Given the description of an element on the screen output the (x, y) to click on. 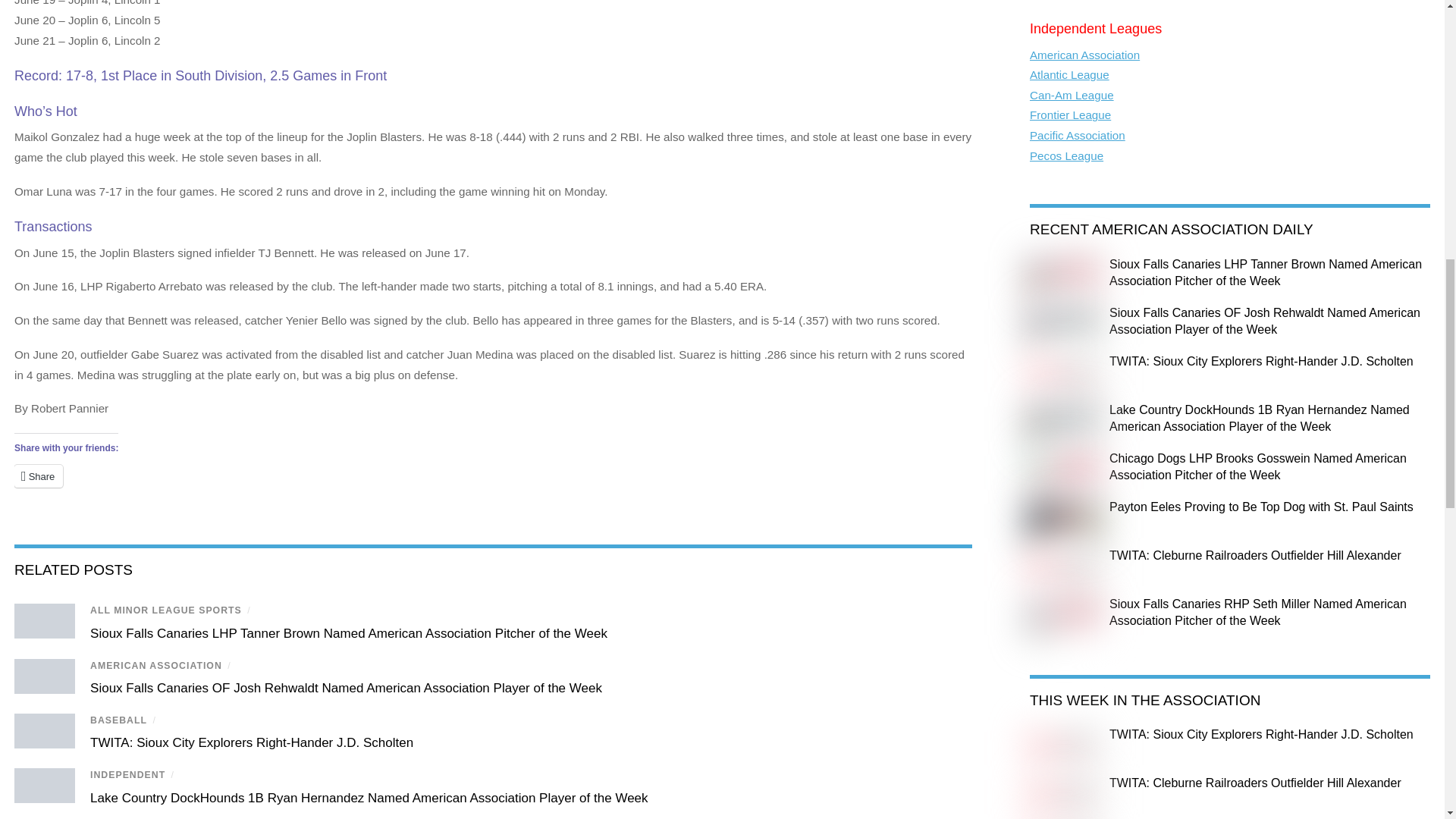
TWITA: Sioux City Explorers Right-Hander J.D. Scholten (251, 742)
INDEPENDENT (127, 774)
Tanner Brown POW (44, 620)
Josh Rehwaldt POW (44, 676)
BASEBALL (118, 719)
Share (38, 476)
Ryan Hernandez POW (44, 785)
American Association (1084, 54)
AMERICAN ASSOCIATION (156, 665)
ALL MINOR LEAGUE SPORTS (165, 610)
TWITA Lead 2021 (44, 730)
